Given the description of an element on the screen output the (x, y) to click on. 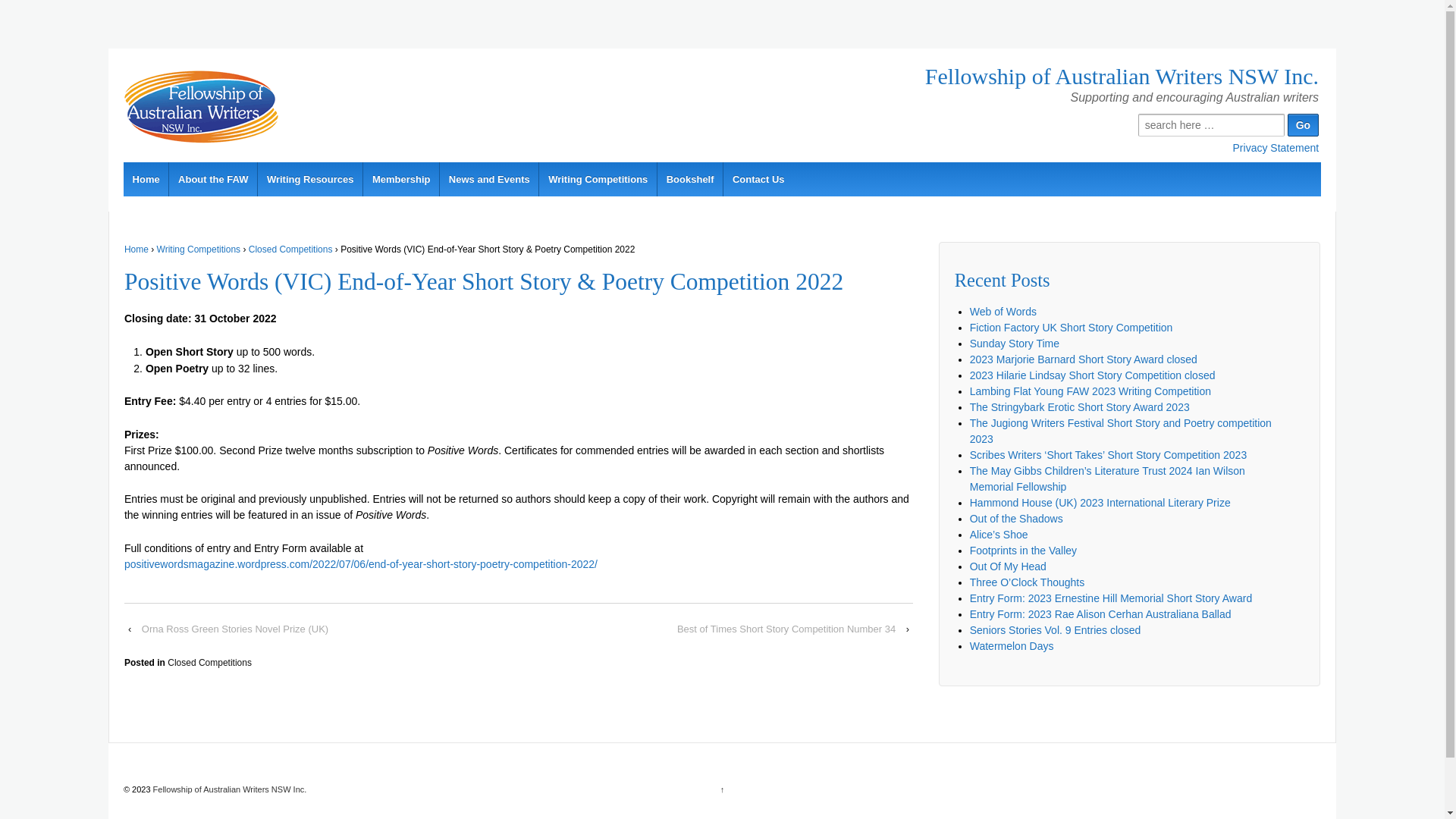
Privacy Statement Element type: text (1276, 147)
Sunday Story Time Element type: text (1014, 343)
Out of the Shadows Element type: text (1016, 518)
Hammond House (UK) 2023 International Literary Prize Element type: text (1099, 502)
2023 Marjorie Barnard Short Story Award closed Element type: text (1083, 359)
Orna Ross Green Stories Novel Prize (UK) Element type: text (234, 628)
The Stringybark Erotic Short Story Award 2023 Element type: text (1079, 407)
Web of Words Element type: text (1002, 311)
Fellowship of Australian Writers NSW Inc. Element type: text (228, 788)
Bookshelf Element type: text (689, 179)
Home Element type: text (136, 249)
Watermelon Days Element type: text (1011, 646)
2023 Hilarie Lindsay Short Story Competition closed Element type: text (1092, 375)
Lambing Flat Young FAW 2023 Writing Competition  Element type: text (1091, 391)
Writing Competitions Element type: text (198, 249)
Seniors Stories Vol. 9 Entries closed Element type: text (1055, 630)
Entry Form: 2023 Ernestine Hill Memorial Short Story Award Element type: text (1110, 598)
Closed Competitions Element type: text (209, 662)
Best of Times Short Story Competition Number 34 Element type: text (786, 628)
Membership Element type: text (400, 179)
Contact Us Element type: text (757, 179)
Home Element type: text (146, 179)
Closed Competitions Element type: text (290, 249)
Out Of My Head Element type: text (1007, 566)
Go Element type: text (1302, 124)
Writing Competitions Element type: text (597, 179)
Writing Resources Element type: text (309, 179)
Fiction Factory UK Short Story Competition Element type: text (1071, 327)
Entry Form: 2023 Rae Alison Cerhan Australiana Ballad Element type: text (1100, 614)
Footprints in the Valley Element type: text (1022, 550)
News and Events Element type: text (488, 179)
About the FAW Element type: text (212, 179)
